Given the description of an element on the screen output the (x, y) to click on. 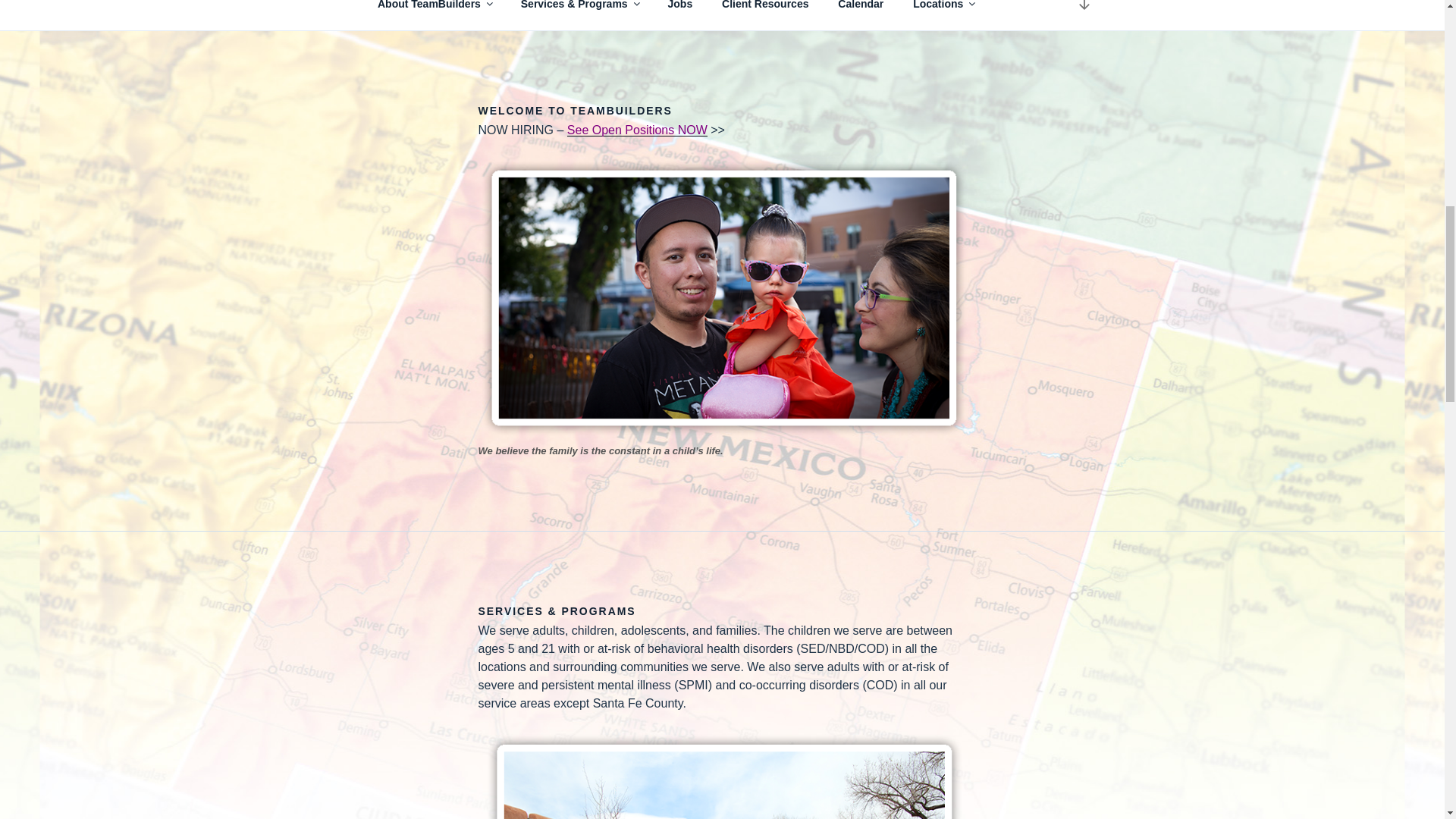
Client Resources (765, 11)
About TeamBuilders (433, 11)
Scroll down to content (1082, 11)
Scroll down to content (1082, 11)
Jobs (679, 11)
Locations (943, 11)
See Open Positions NOW (637, 129)
Calendar (860, 11)
